Given the description of an element on the screen output the (x, y) to click on. 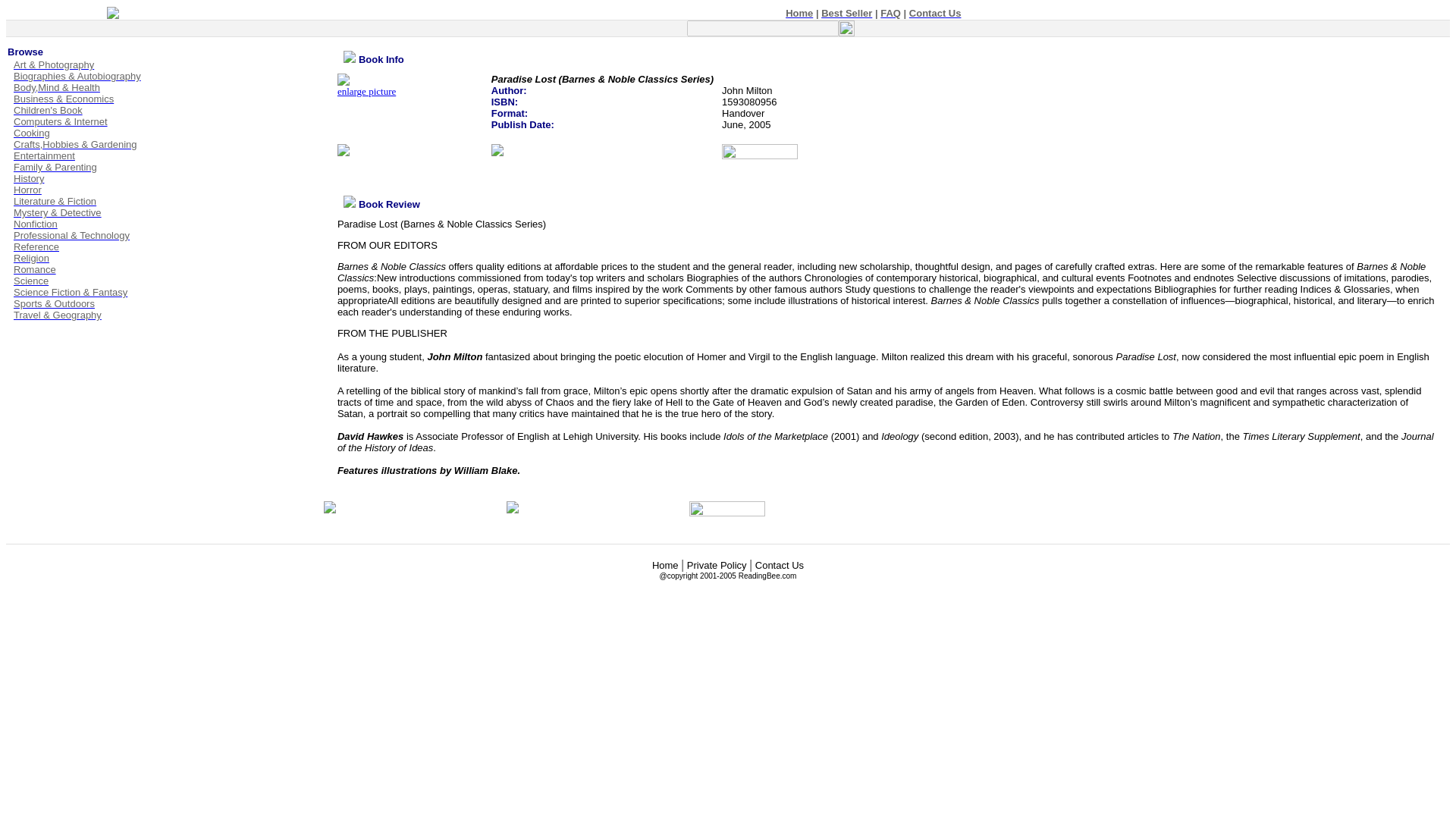
Romance (31, 269)
History (25, 178)
Cooking (28, 132)
enlarge picture (366, 86)
Entertainment (41, 155)
Home (799, 12)
Science (27, 280)
Nonfiction (32, 224)
Horror (24, 189)
Religion (28, 257)
Contact Us (934, 12)
Best Seller (846, 12)
Reference (33, 246)
Children's Book (44, 110)
Home (665, 563)
